Given the description of an element on the screen output the (x, y) to click on. 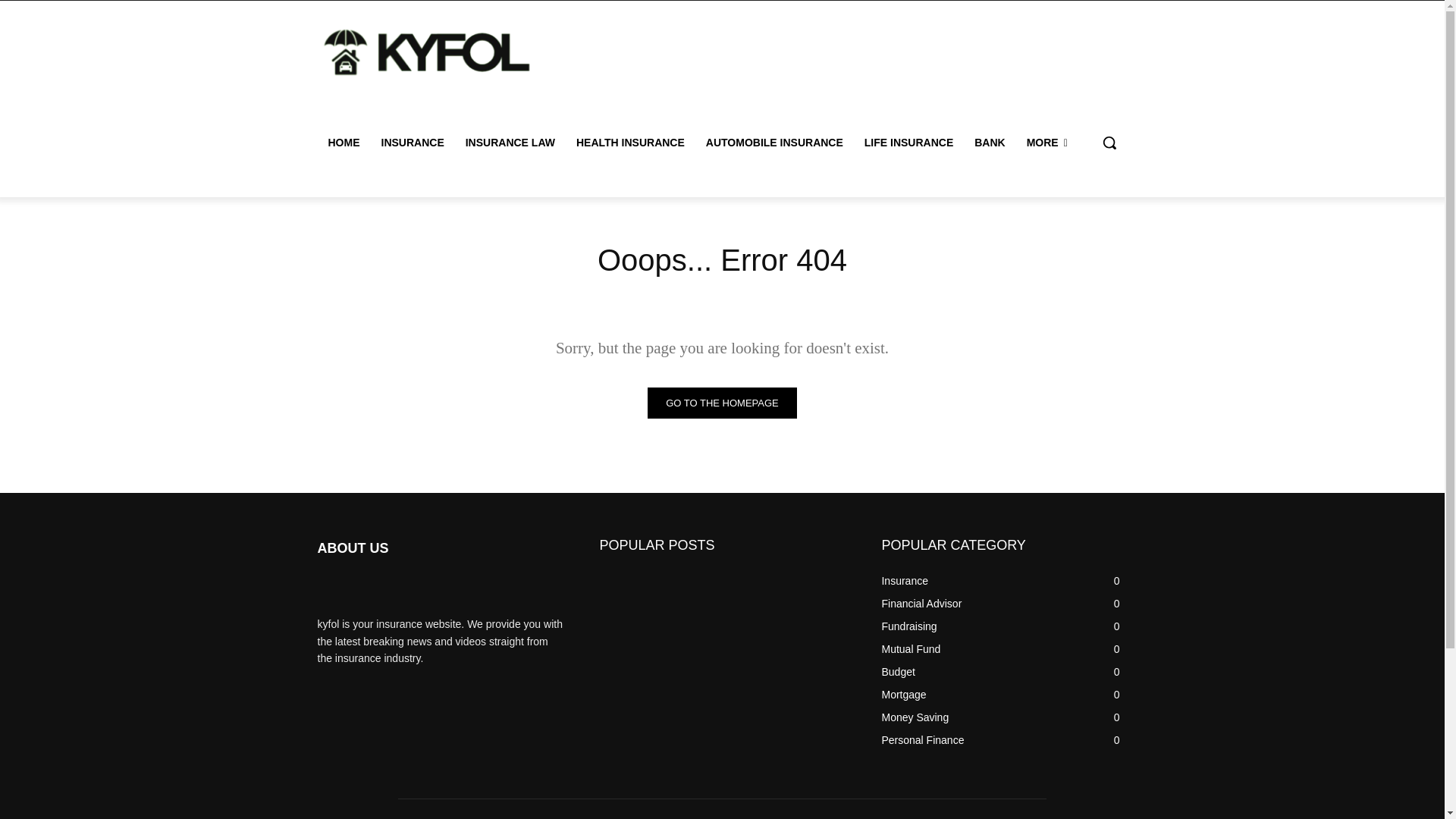
HOME (343, 142)
INSURANCE (411, 142)
BANK (988, 142)
INSURANCE LAW (510, 142)
LIFE INSURANCE (908, 142)
Go to the homepage (721, 402)
HEALTH INSURANCE (630, 142)
MORE (1047, 142)
AUTOMOBILE INSURANCE (774, 142)
